Given the description of an element on the screen output the (x, y) to click on. 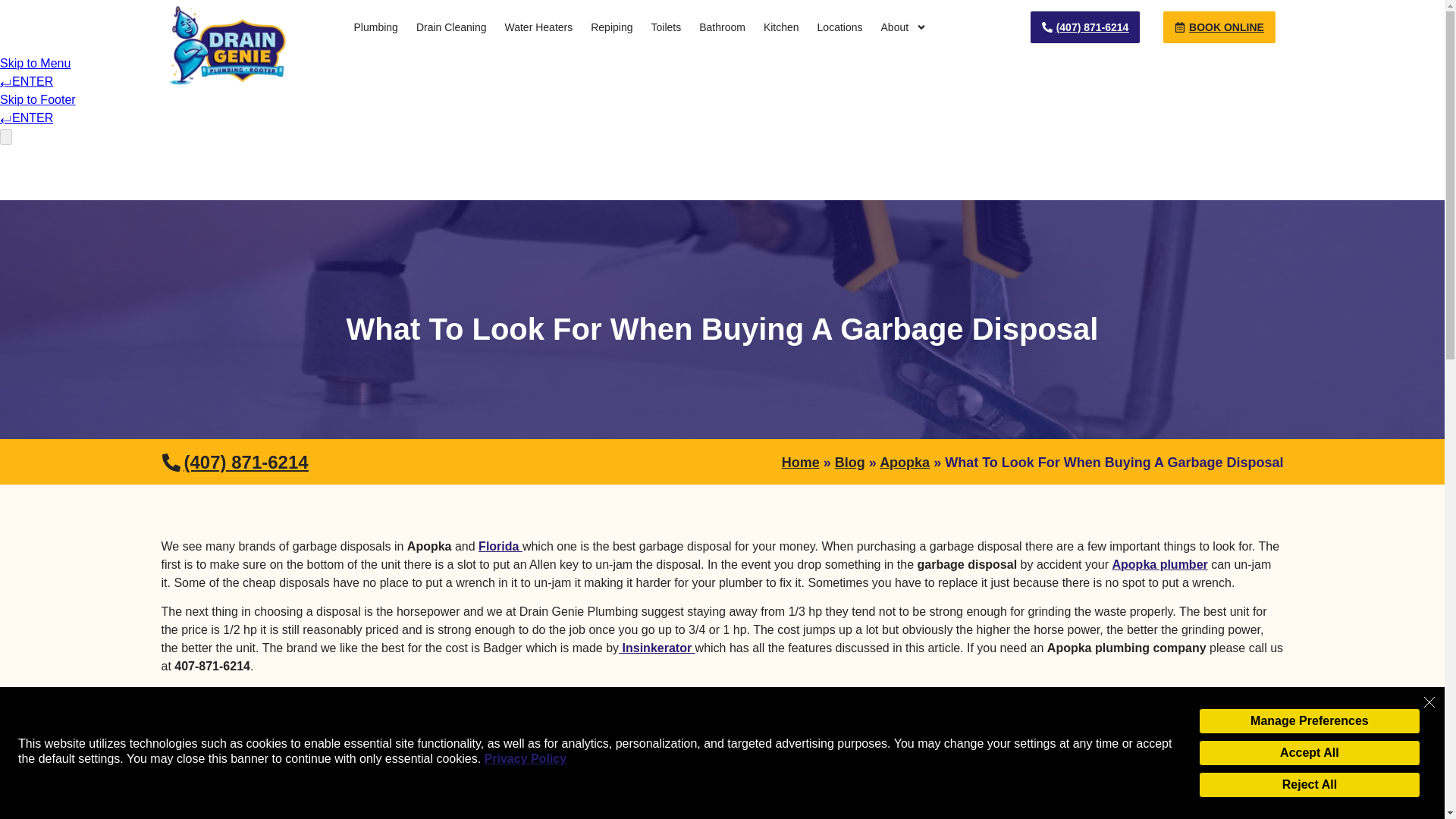
Locations (840, 26)
Reject All (1309, 784)
Manage Preferences (1309, 720)
Water Heaters (537, 26)
Kitchen (781, 26)
Toilets (666, 26)
About (904, 26)
Plumbing (374, 26)
Privacy Policy (525, 758)
Drain Cleaning (451, 26)
